Given the description of an element on the screen output the (x, y) to click on. 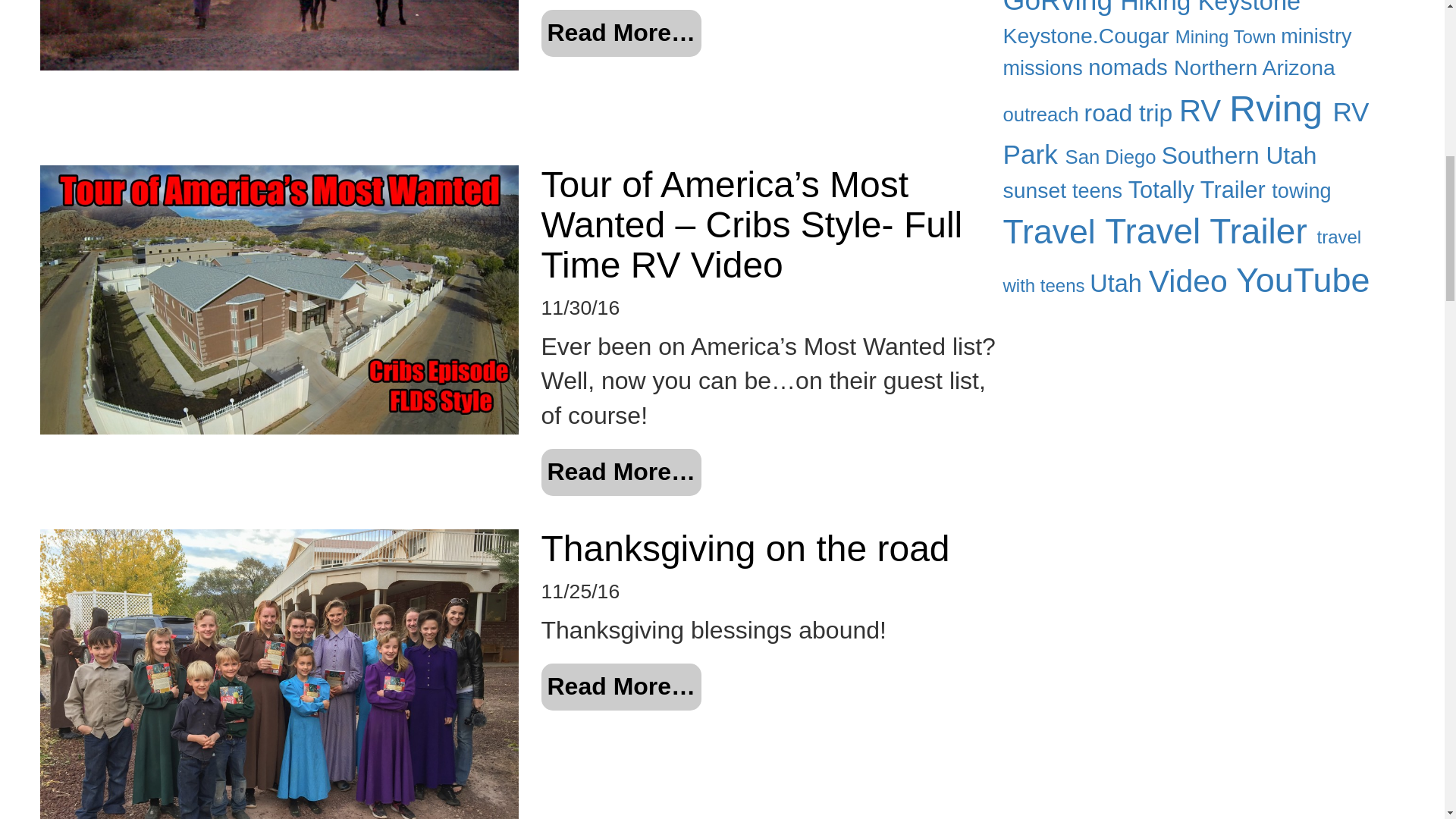
Hiking (1157, 7)
road trip (1131, 112)
missions (1045, 67)
Keystone.Cougar (1088, 35)
GoRving (1061, 7)
Northern Arizona (1254, 67)
Rving (1280, 108)
outreach (1043, 114)
Keystone (1249, 7)
RV (1203, 110)
RV Park (1185, 132)
nomads (1130, 66)
Mining Town (1227, 36)
ministry (1316, 36)
